Given the description of an element on the screen output the (x, y) to click on. 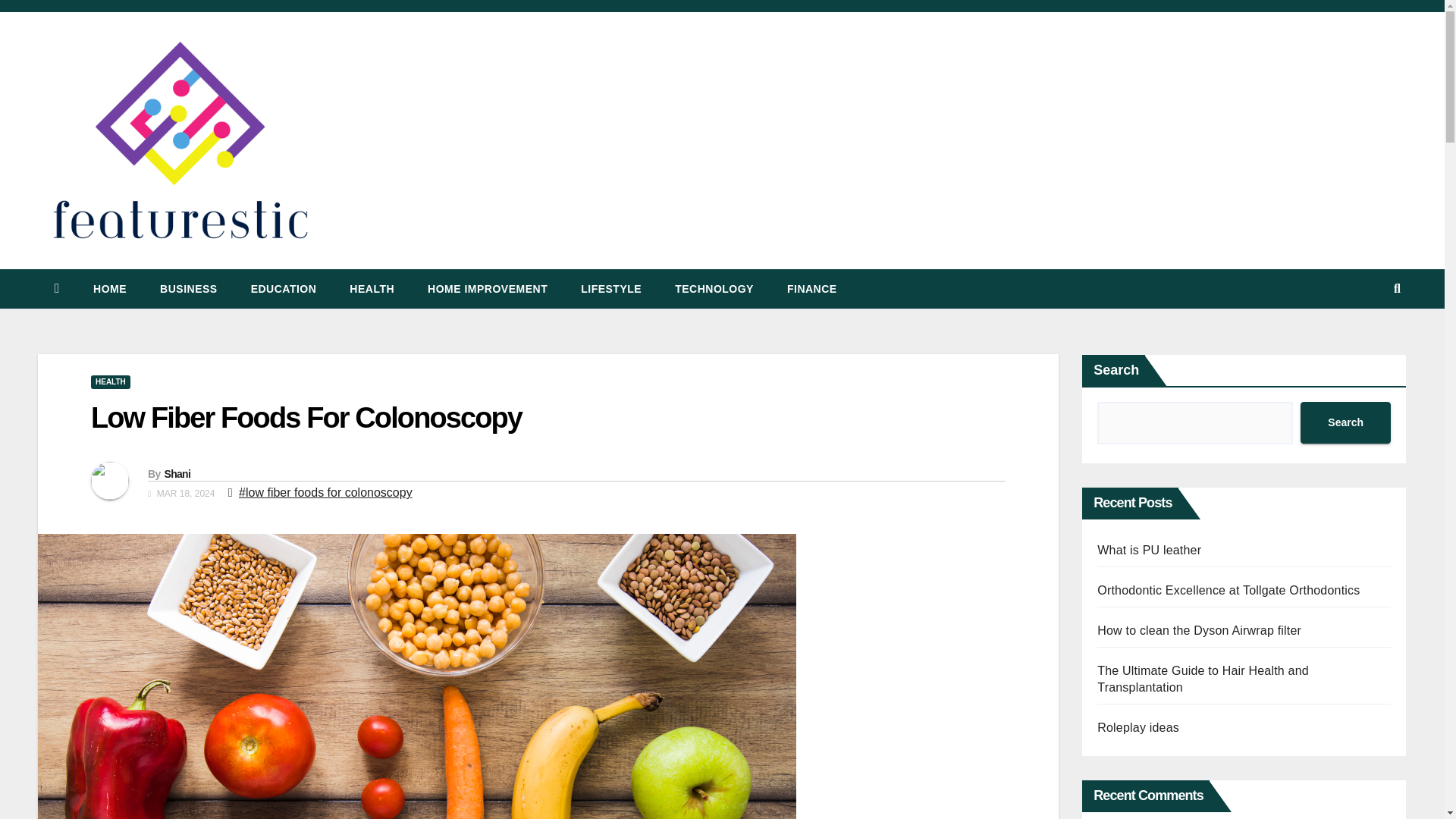
Lifestyle (611, 288)
Finance (811, 288)
EDUCATION (283, 288)
FINANCE (811, 288)
Home Improvement (487, 288)
HEALTH (110, 382)
Permalink to: Low Fiber Foods For Colonoscopy (305, 418)
LIFESTYLE (611, 288)
Home (109, 288)
HOME (109, 288)
Low Fiber Foods For Colonoscopy (305, 418)
Health (371, 288)
Business (188, 288)
HEALTH (371, 288)
